Given the description of an element on the screen output the (x, y) to click on. 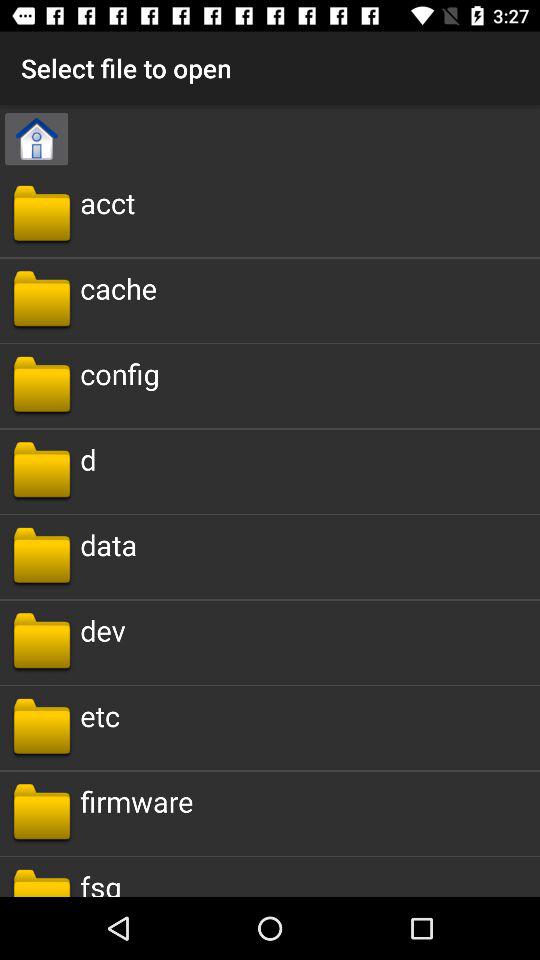
scroll to the firmware (136, 800)
